Given the description of an element on the screen output the (x, y) to click on. 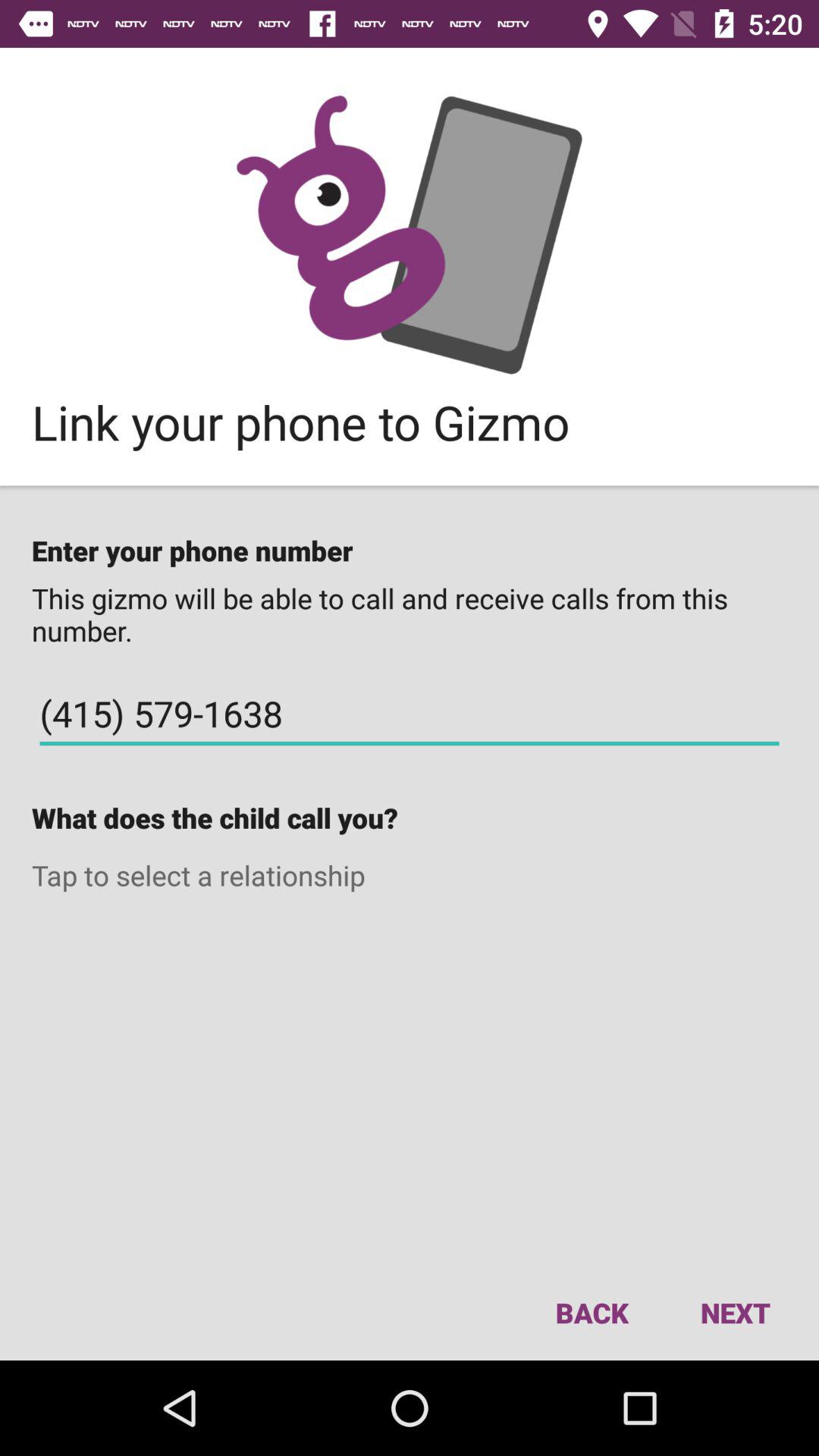
flip until the next item (735, 1312)
